Given the description of an element on the screen output the (x, y) to click on. 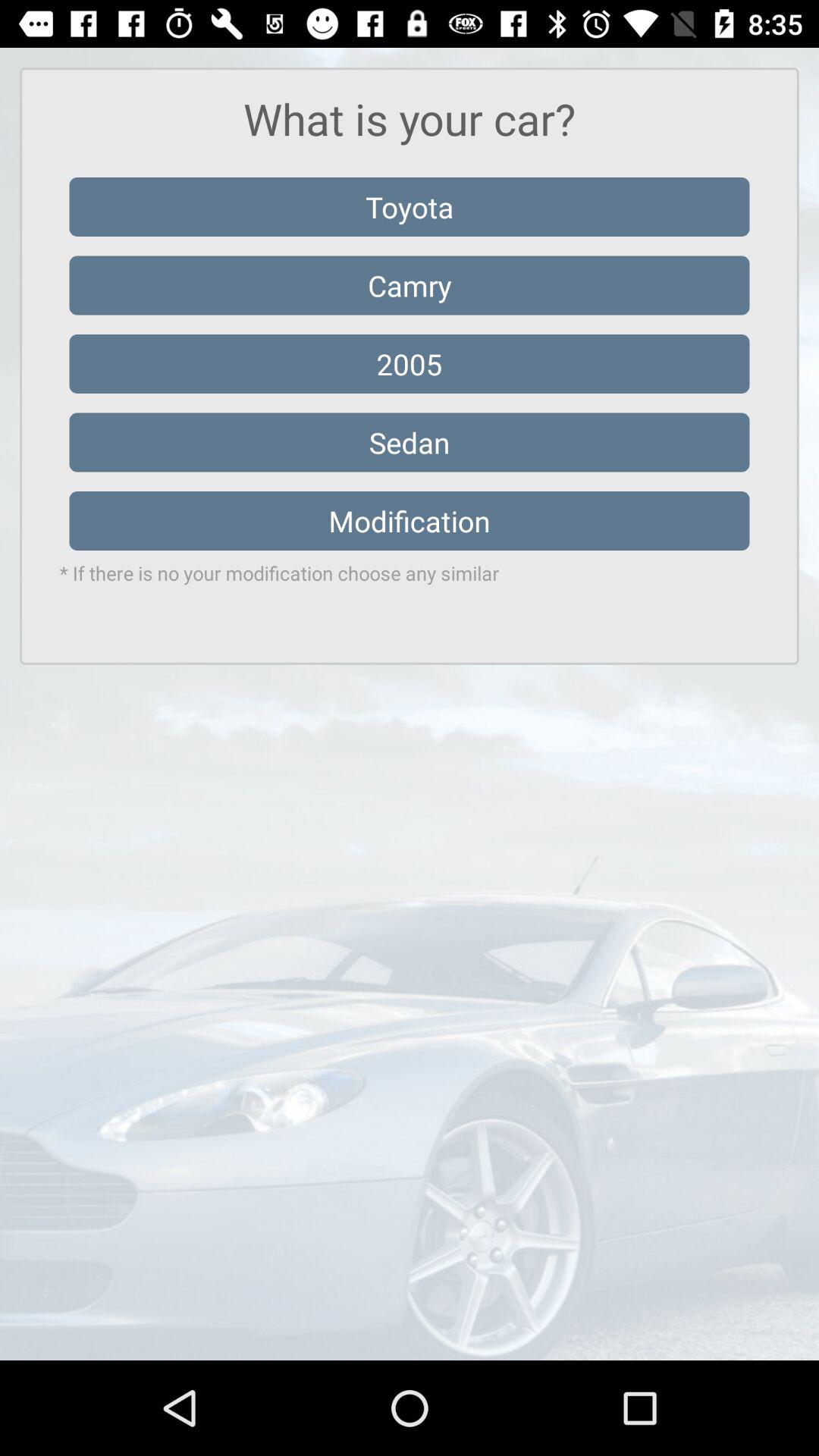
press icon above the 2005 icon (409, 285)
